Given the description of an element on the screen output the (x, y) to click on. 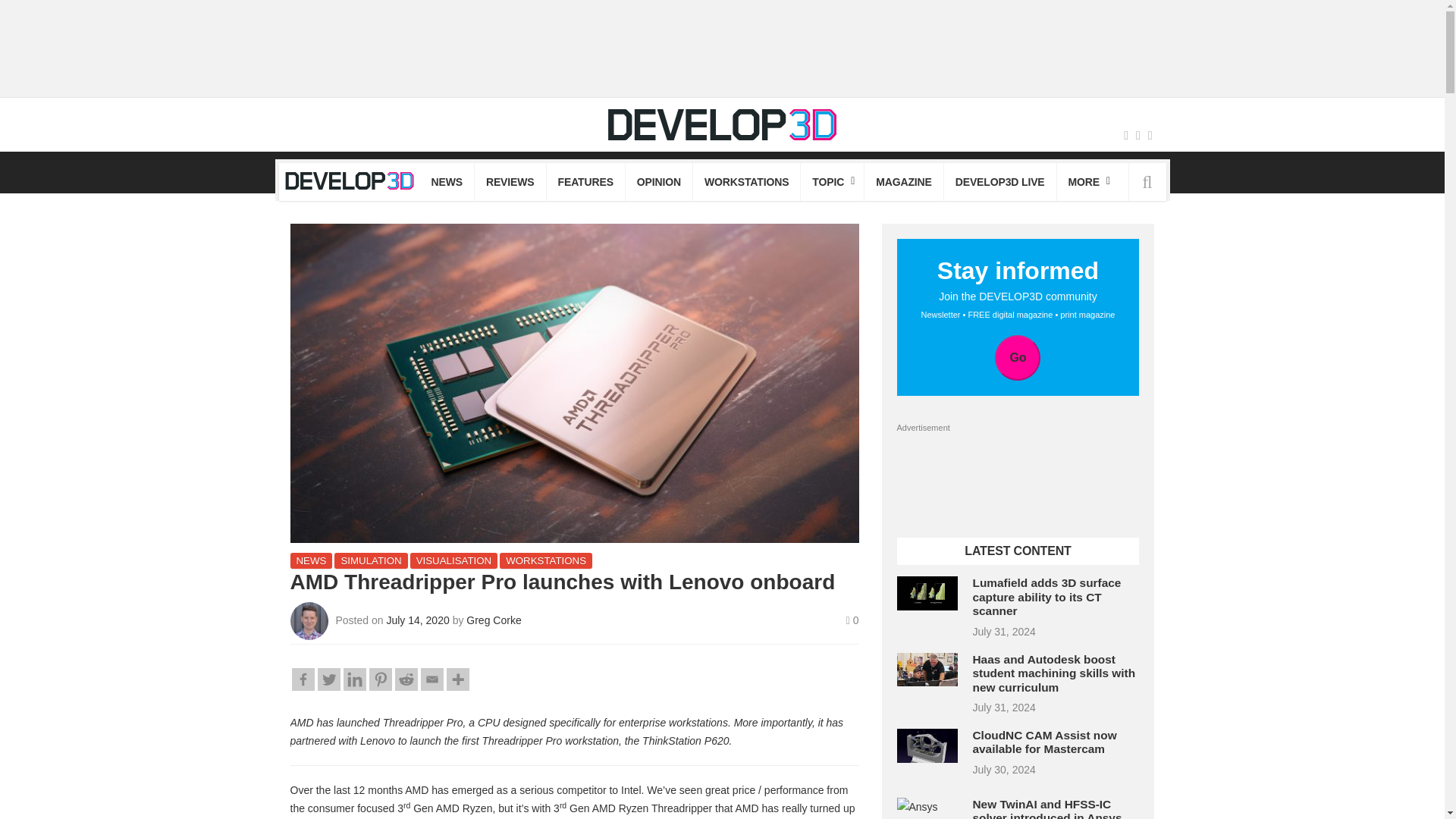
MORE (1088, 181)
Pinterest (379, 679)
Reddit (405, 679)
TOPIC (831, 181)
FEATURES (585, 181)
OPINION (659, 181)
WORKSTATIONS (746, 181)
Facebook (302, 679)
NEWS (447, 181)
REVIEWS (510, 181)
